Given the description of an element on the screen output the (x, y) to click on. 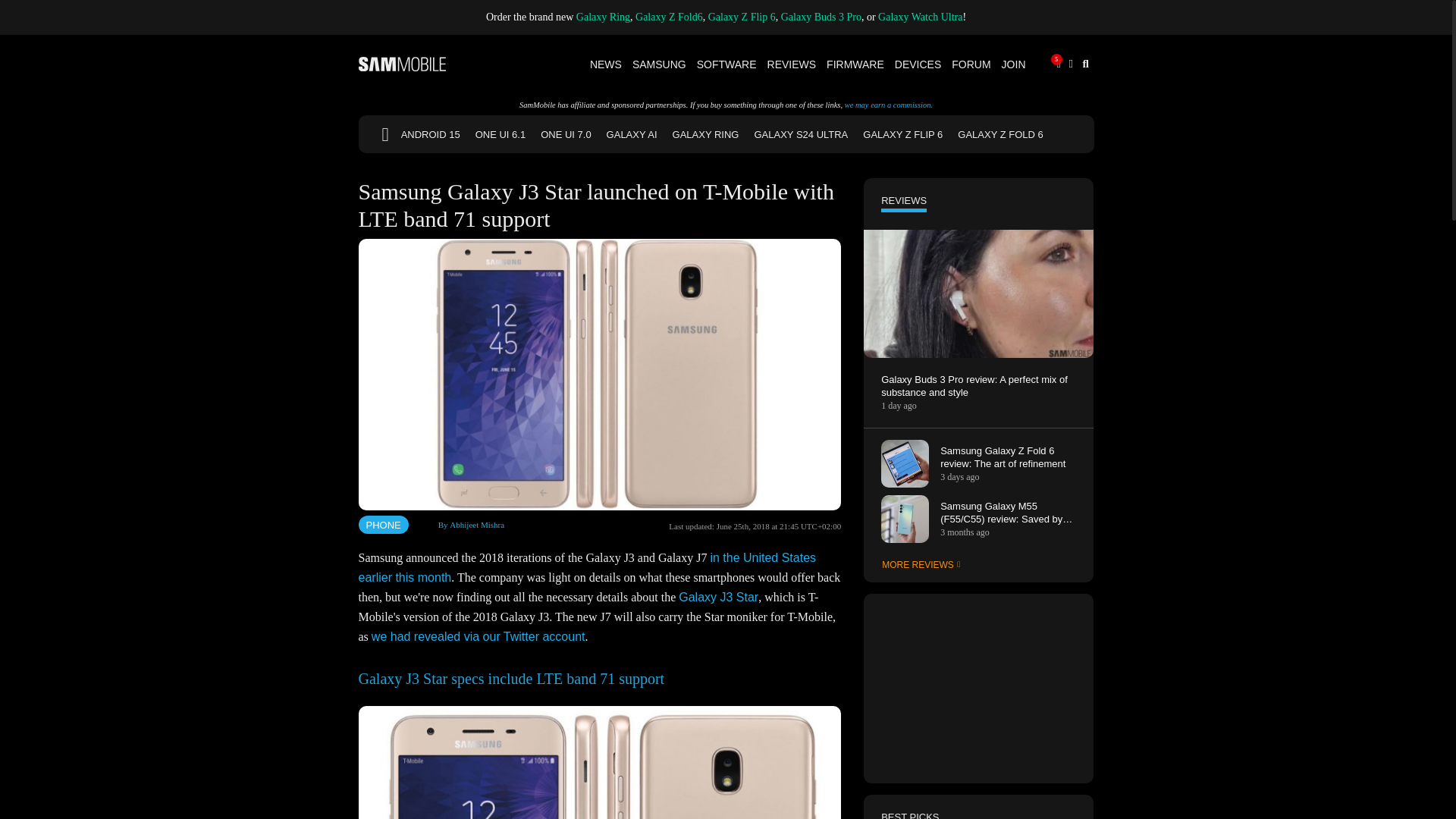
Galaxy Z Fold6 (668, 16)
Galaxy Watch Ultra (919, 16)
SAMSUNG (659, 64)
Samsung (659, 64)
Galaxy Z Flip 6 (741, 16)
Galaxy Buds 3 Pro (820, 16)
SamMobile logo (401, 63)
Galaxy Ring (603, 16)
